Given the description of an element on the screen output the (x, y) to click on. 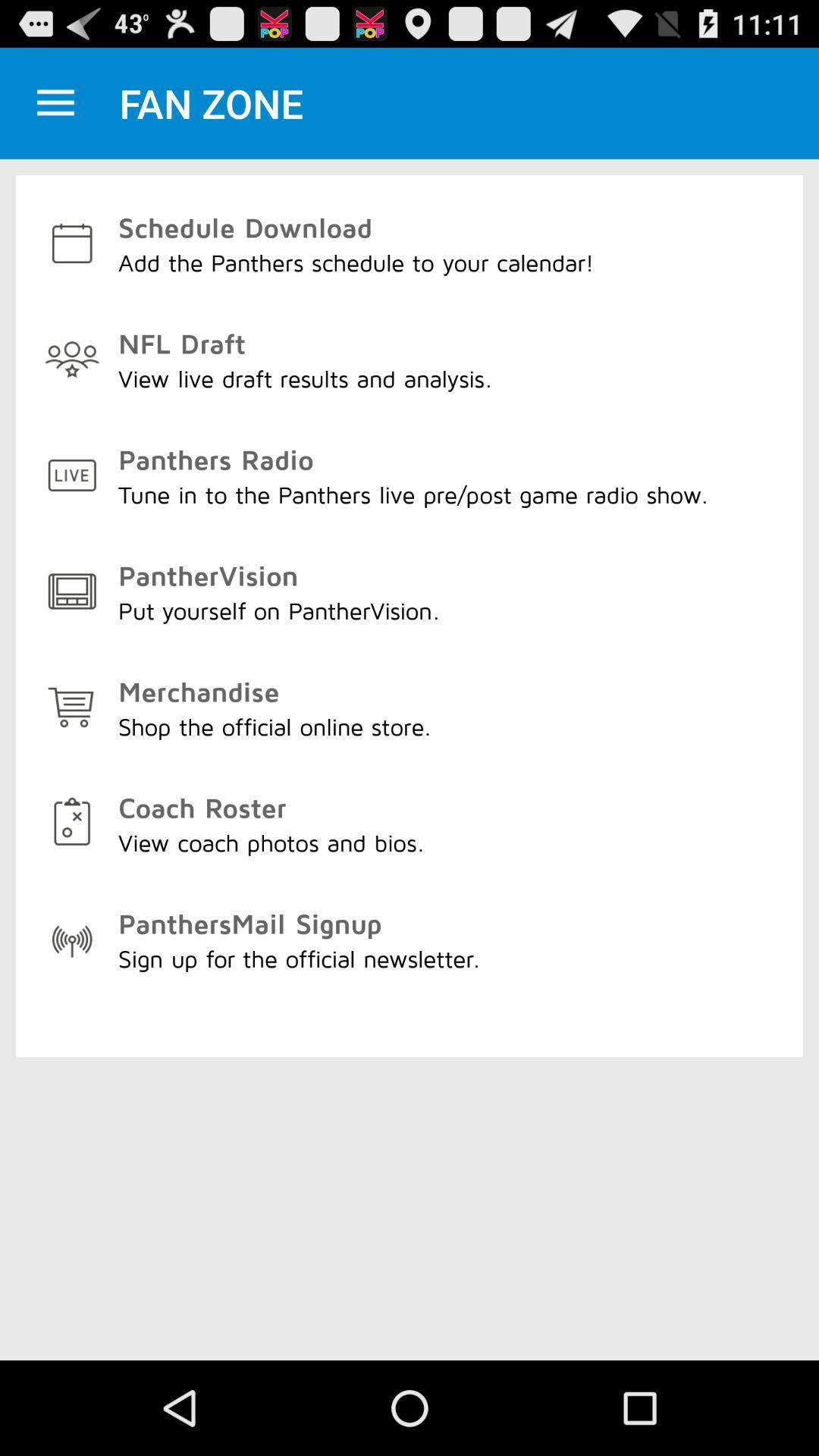
because back devicer (55, 103)
